Given the description of an element on the screen output the (x, y) to click on. 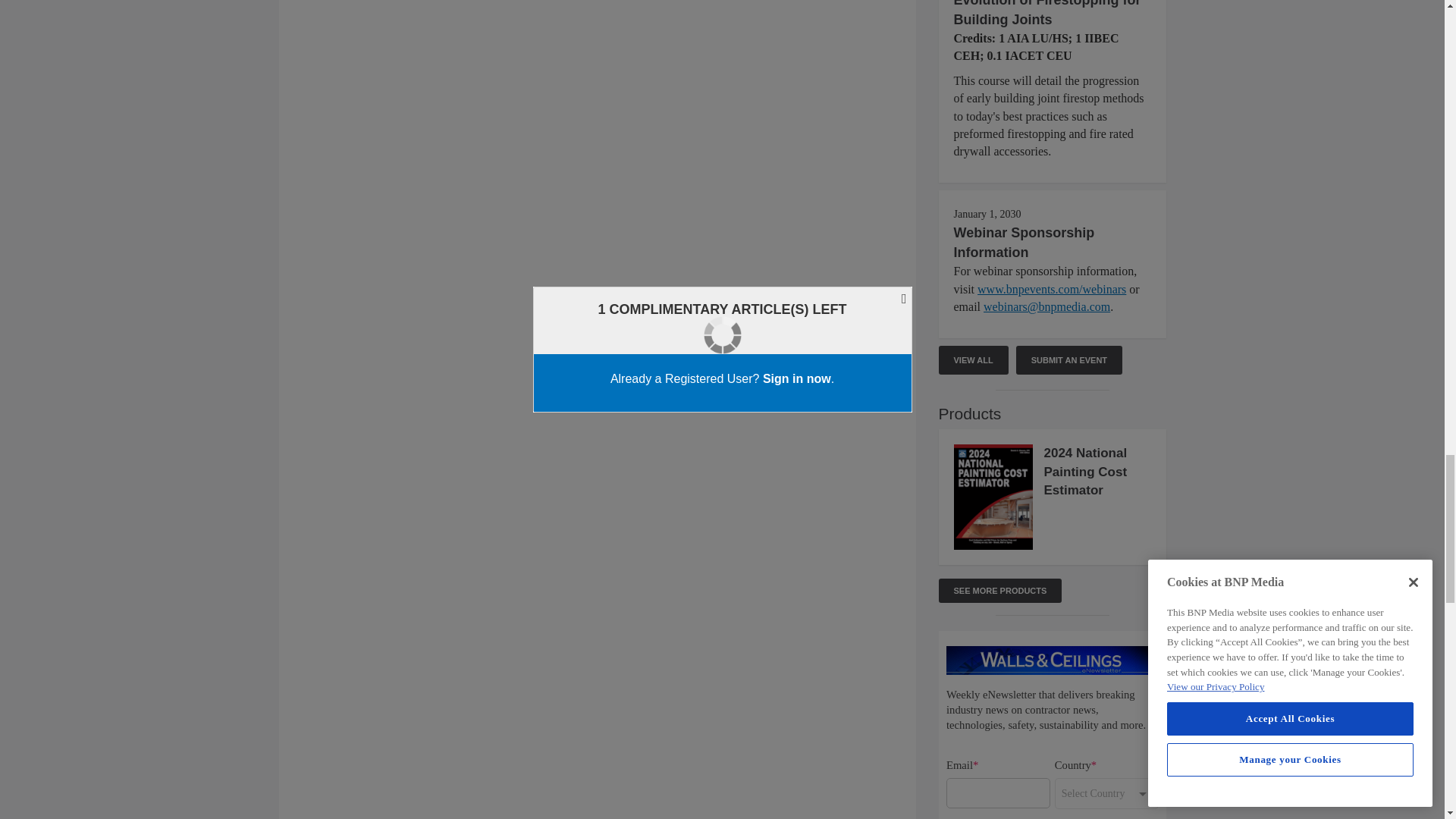
Evolution of Firestopping for Building Joints (1047, 13)
Interaction questions (1052, 724)
Webinar Sponsorship Information (1023, 242)
